Given the description of an element on the screen output the (x, y) to click on. 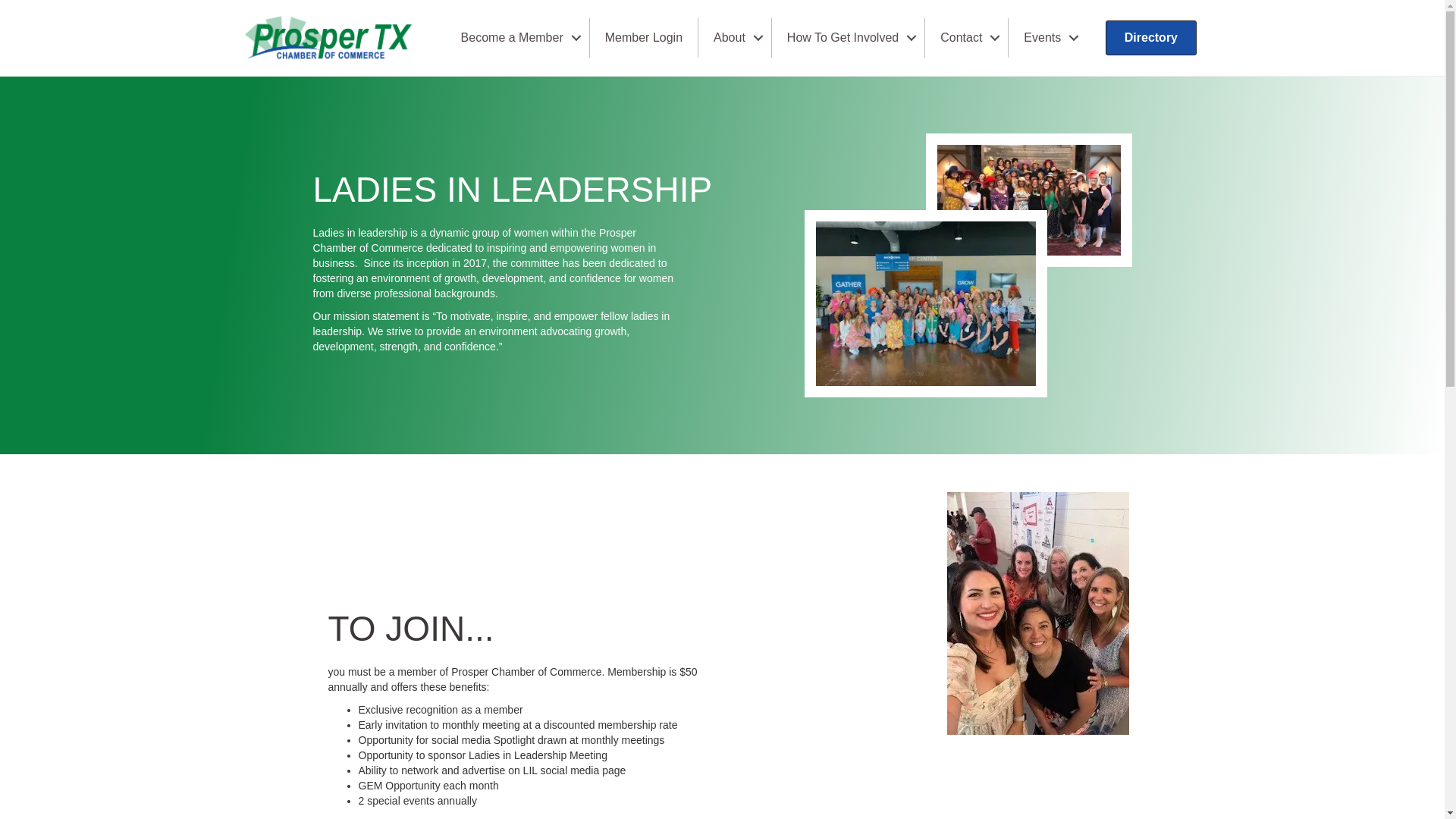
About (734, 38)
How To Get Involved (847, 38)
LIL spring (925, 303)
Contact (965, 38)
Directory (1150, 37)
Become a Member (517, 38)
Prosper-Chamber (330, 37)
Member Login (643, 38)
allhats (1029, 199)
Events (1047, 38)
